Given the description of an element on the screen output the (x, y) to click on. 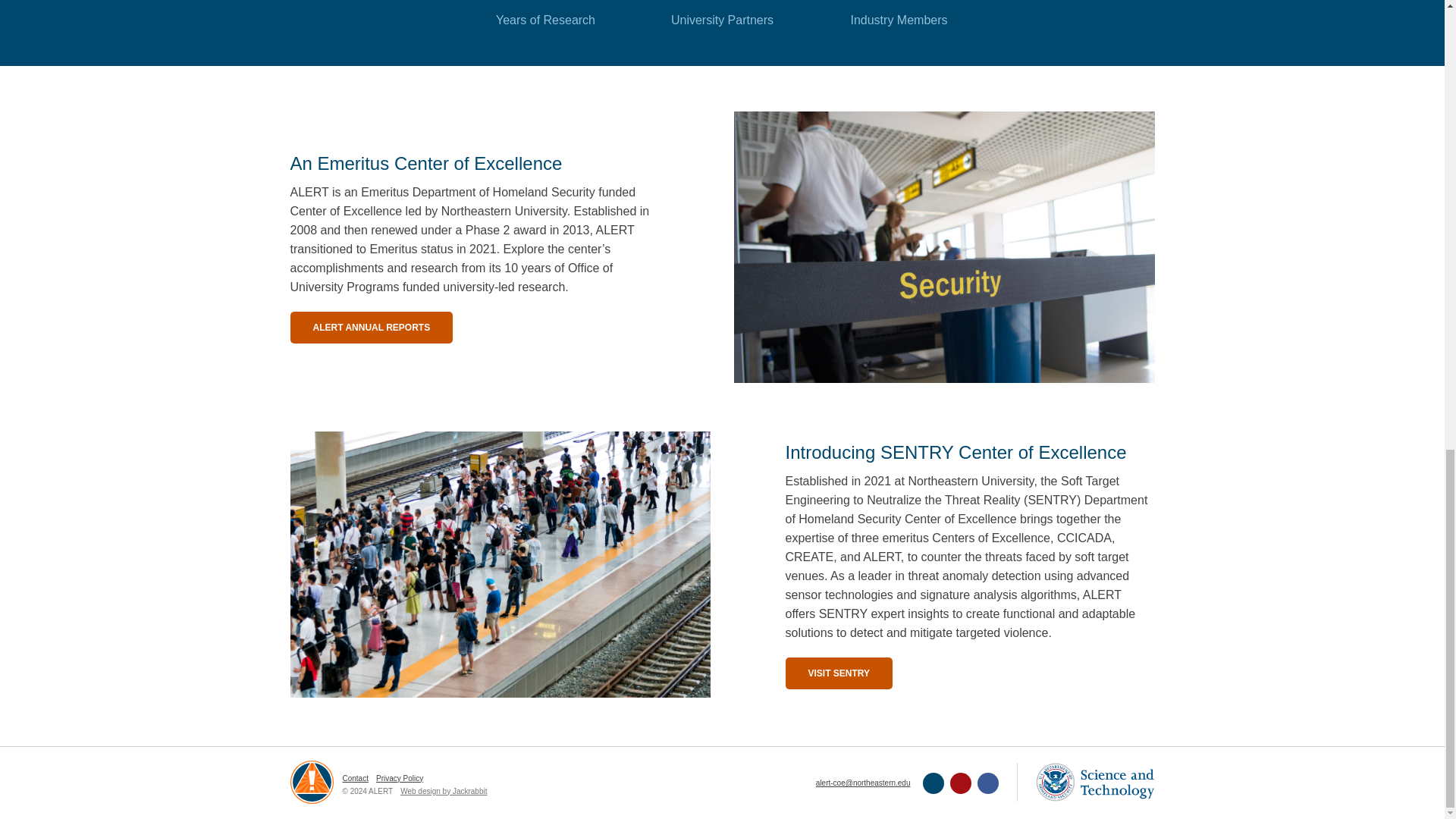
ALERT ANNUAL REPORTS (370, 327)
